Given the description of an element on the screen output the (x, y) to click on. 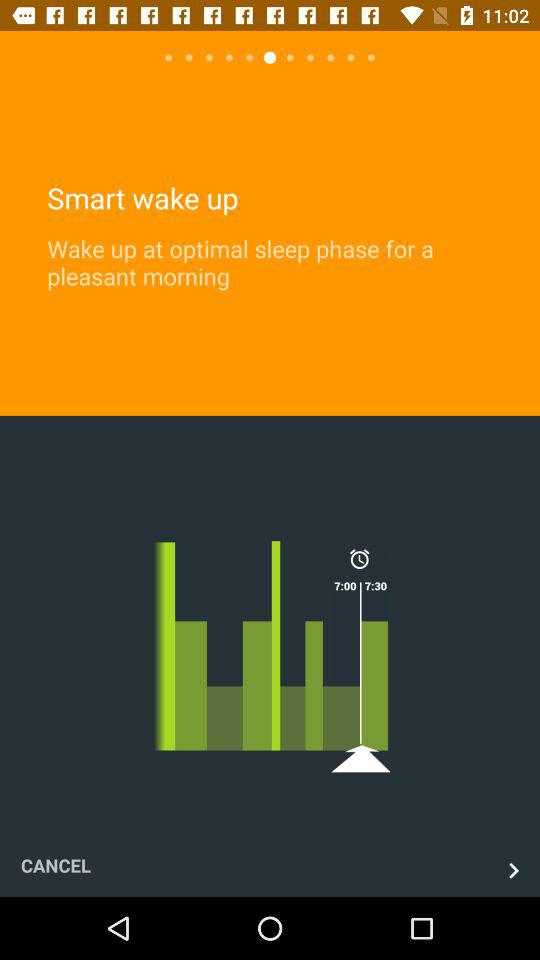
next (513, 870)
